Given the description of an element on the screen output the (x, y) to click on. 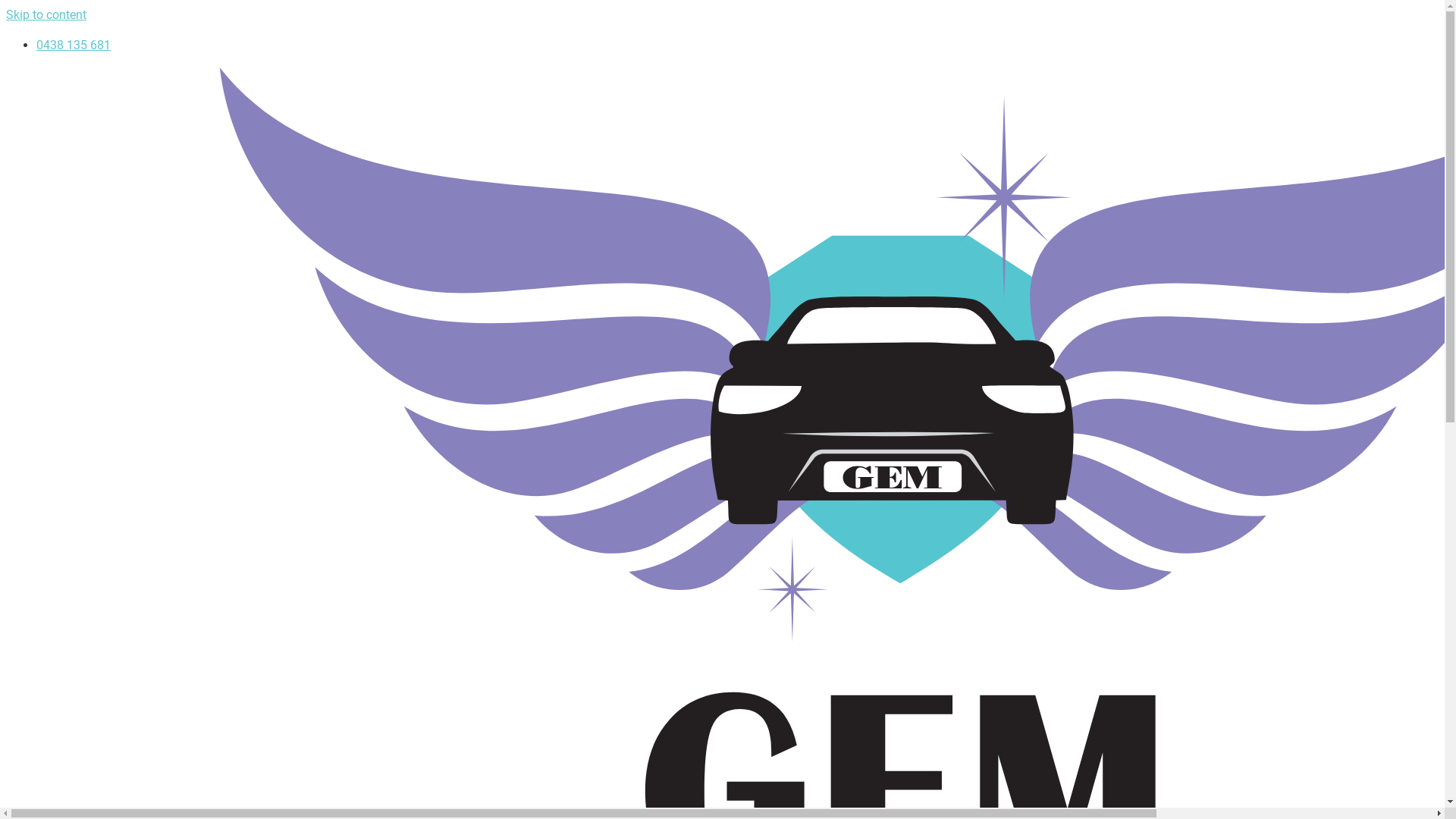
Skip to content Element type: text (46, 14)
0438 135 681 Element type: text (73, 44)
